Given the description of an element on the screen output the (x, y) to click on. 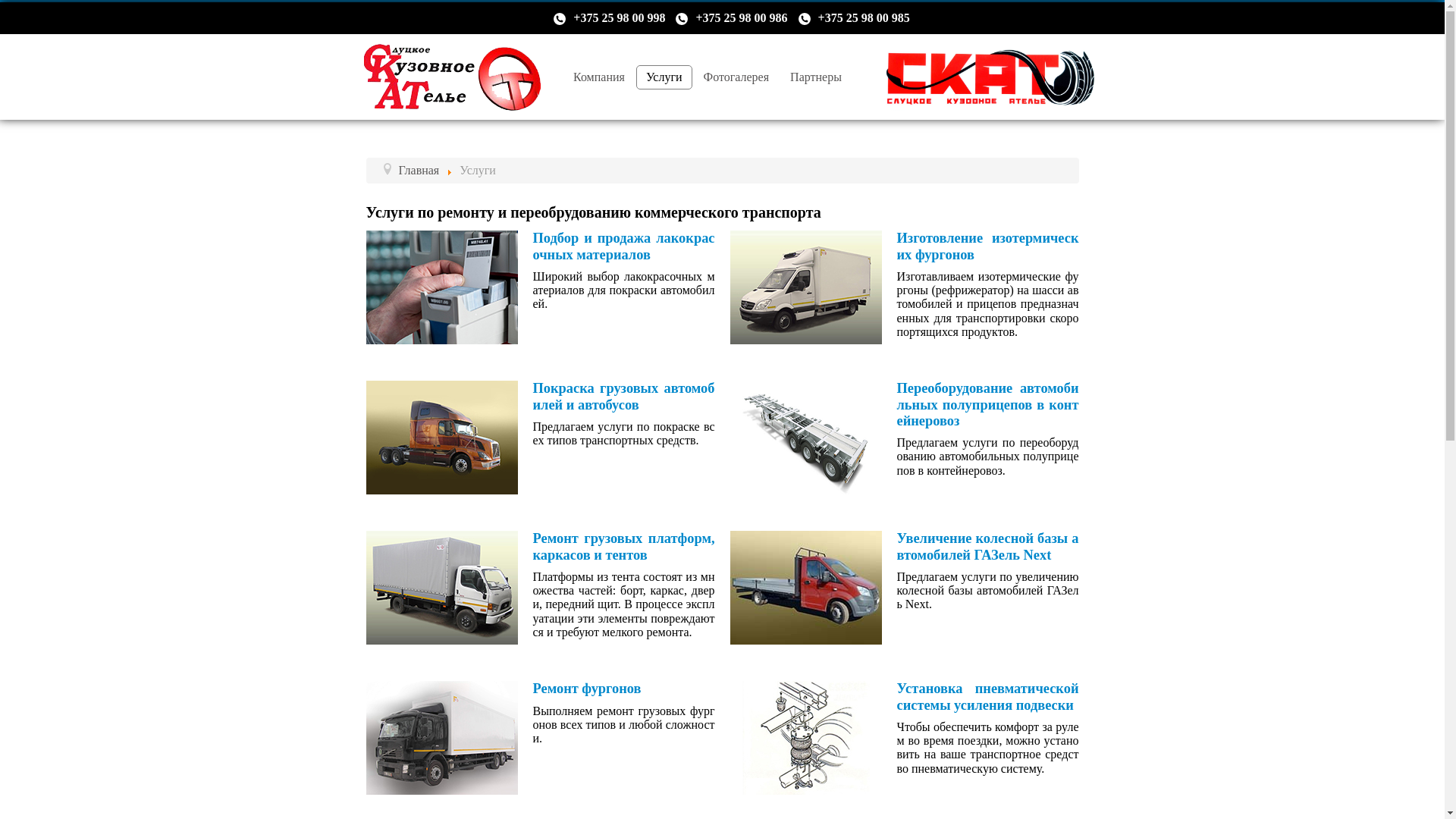
+375 25 98 00 985 Element type: text (864, 17)
+375 25 98 00 986 Element type: text (741, 17)
+375 25 98 00 998 Element type: text (619, 17)
